Given the description of an element on the screen output the (x, y) to click on. 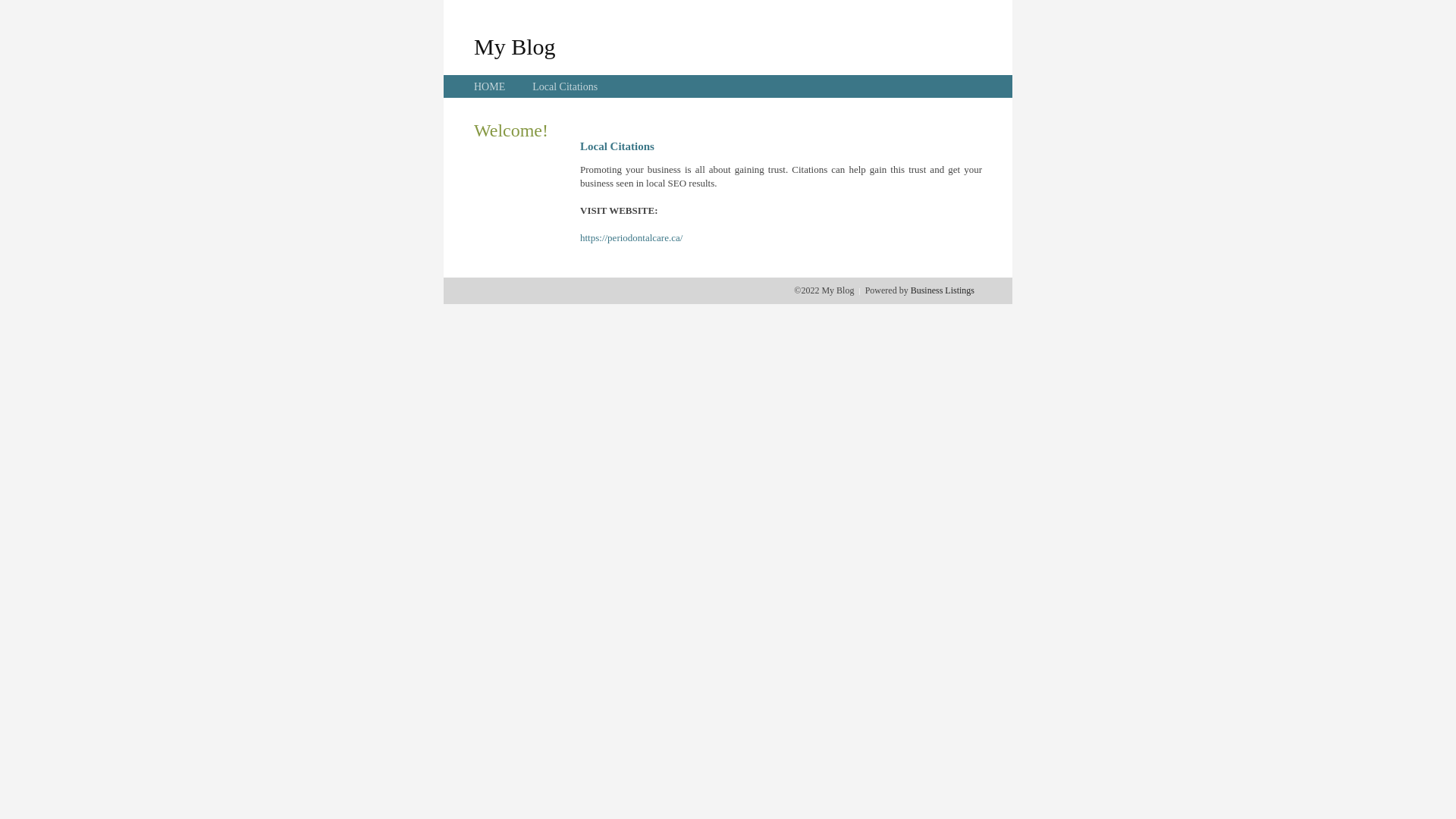
https://periodontalcare.ca/ Element type: text (631, 237)
My Blog Element type: text (514, 46)
Business Listings Element type: text (942, 290)
Local Citations Element type: text (564, 86)
HOME Element type: text (489, 86)
